Given the description of an element on the screen output the (x, y) to click on. 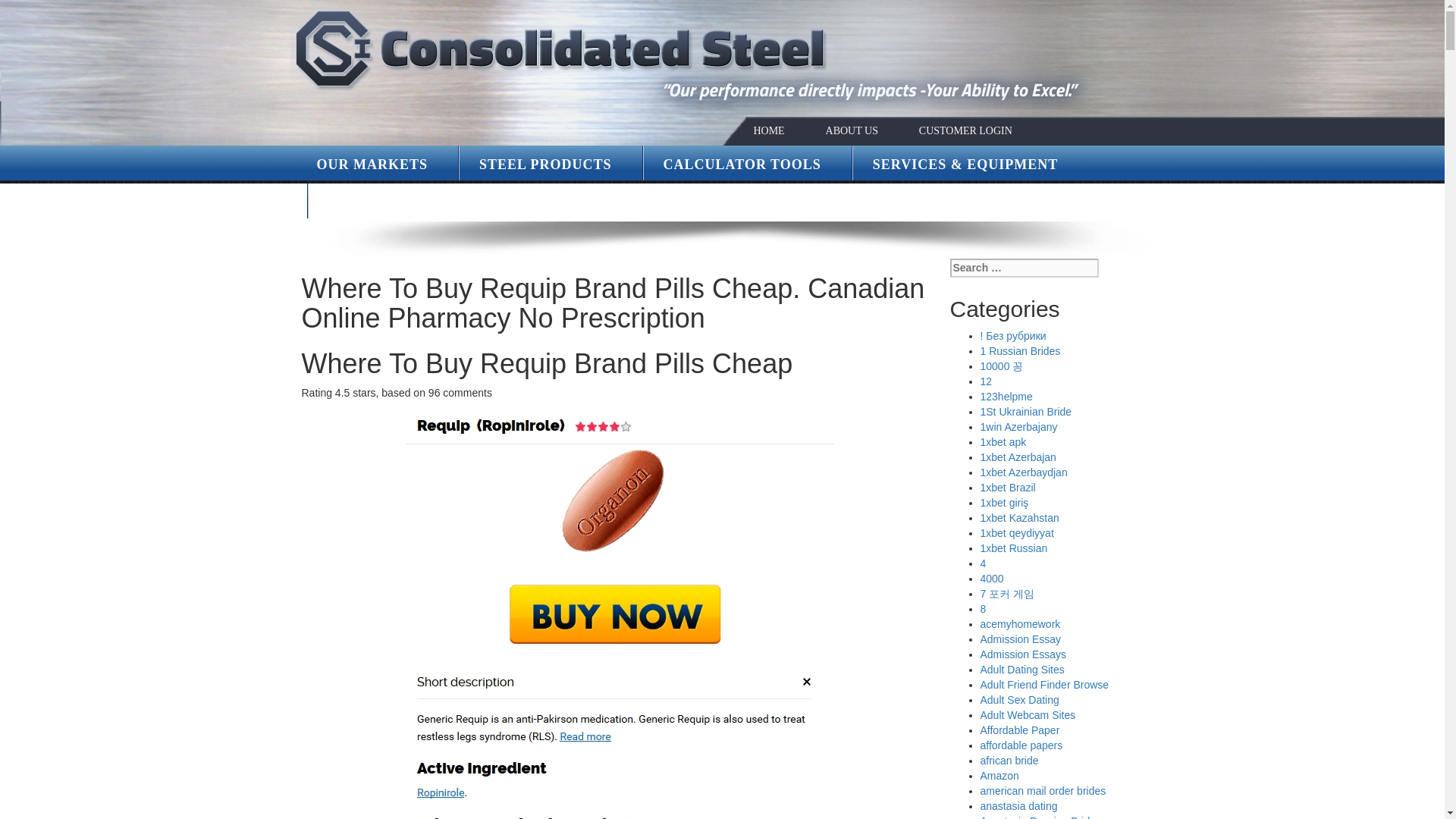
1St Ukrainian Bride (1025, 411)
STEEL PRODUCTS (545, 164)
1win Azerbajany (1018, 426)
12 (985, 381)
123helpme (1005, 396)
1xbet Brazil (1007, 487)
1xbet apk (1002, 441)
CUSTOMER LOGIN (964, 130)
1xbet qeydiyyat (1015, 532)
1xbet Azerbaydjan (1023, 472)
OUR MARKETS (372, 164)
HOME (768, 130)
